Given the description of an element on the screen output the (x, y) to click on. 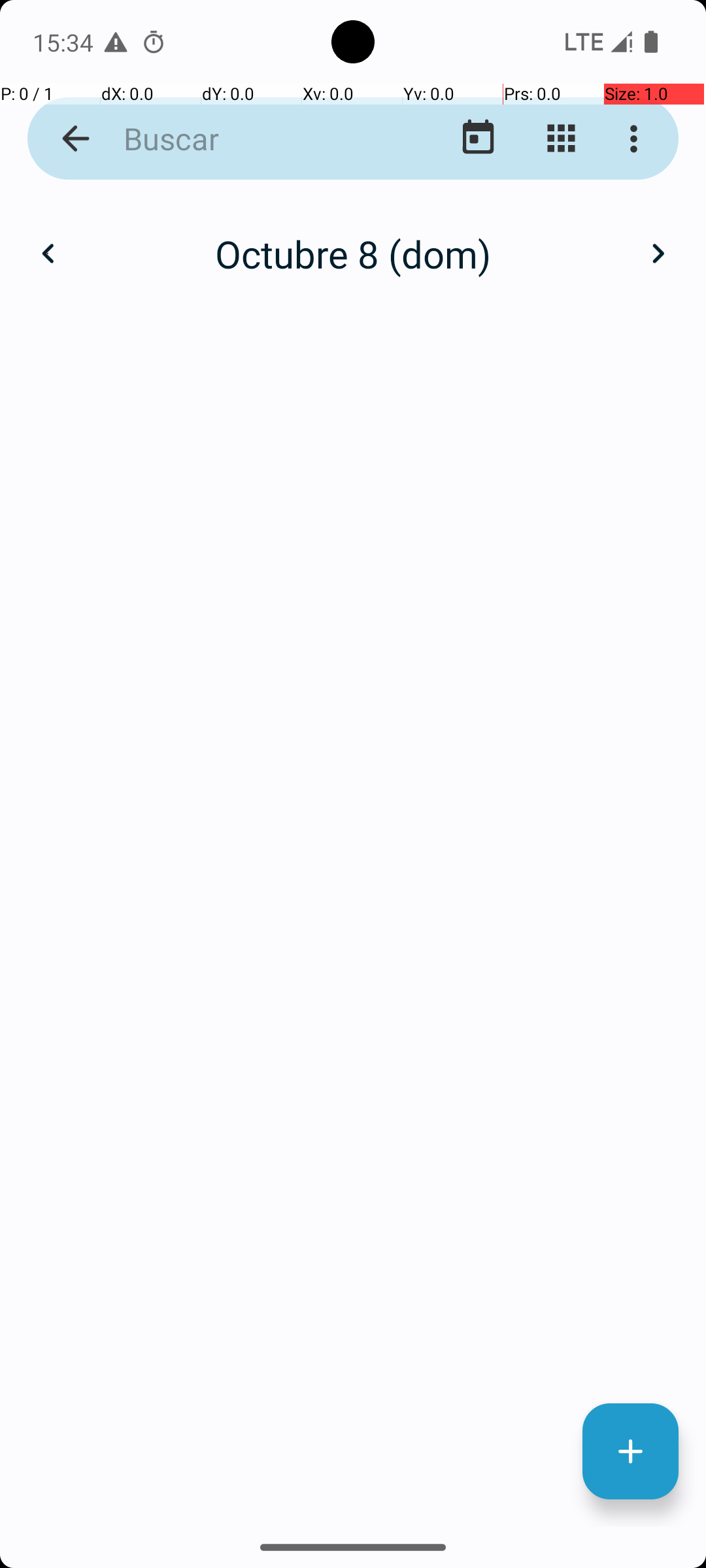
Ir al día de hoy Element type: android.widget.Button (477, 138)
Octubre 8 (dom) Element type: android.widget.TextView (352, 253)
